Given the description of an element on the screen output the (x, y) to click on. 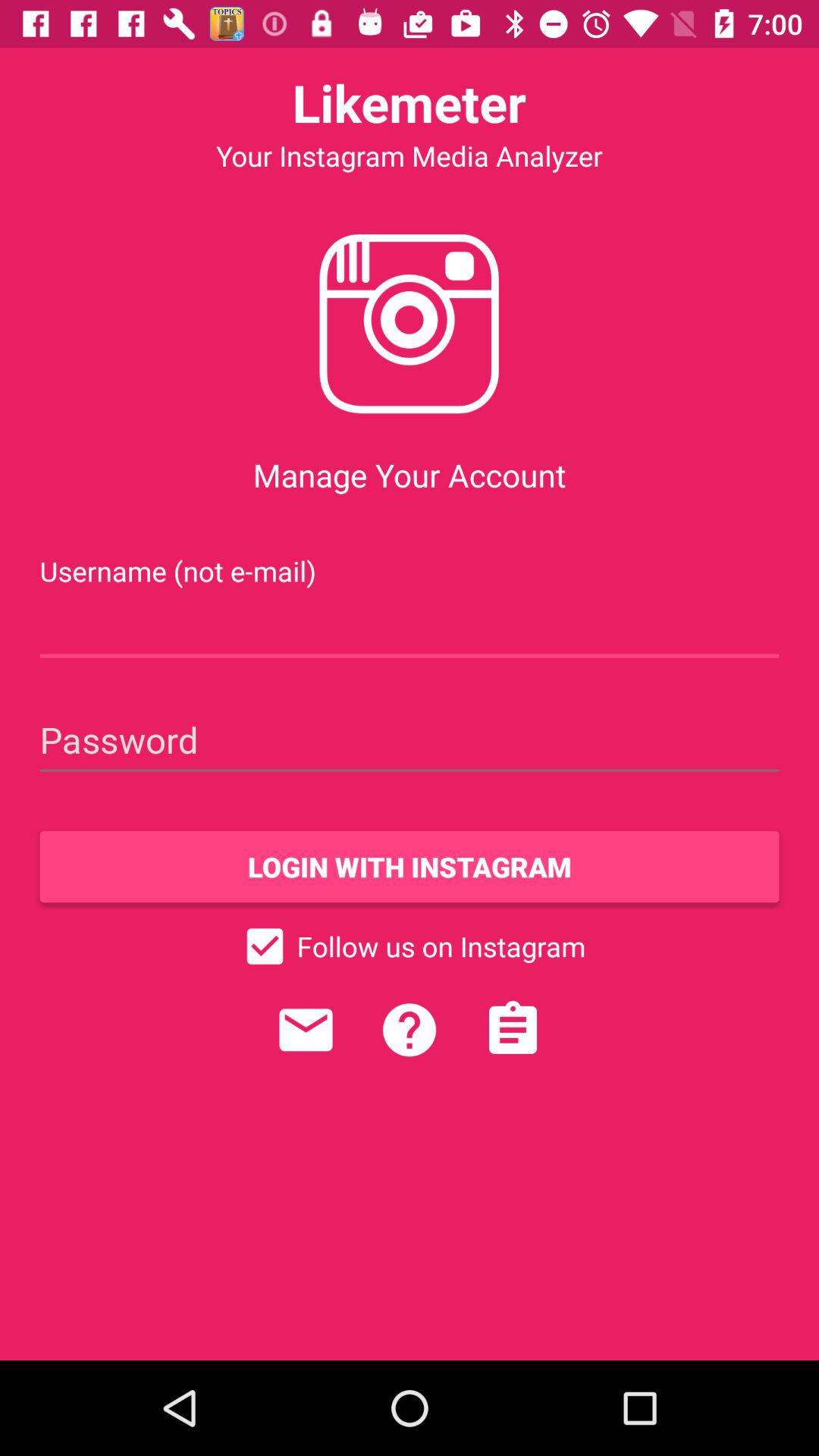
scroll until follow us on item (409, 946)
